Given the description of an element on the screen output the (x, y) to click on. 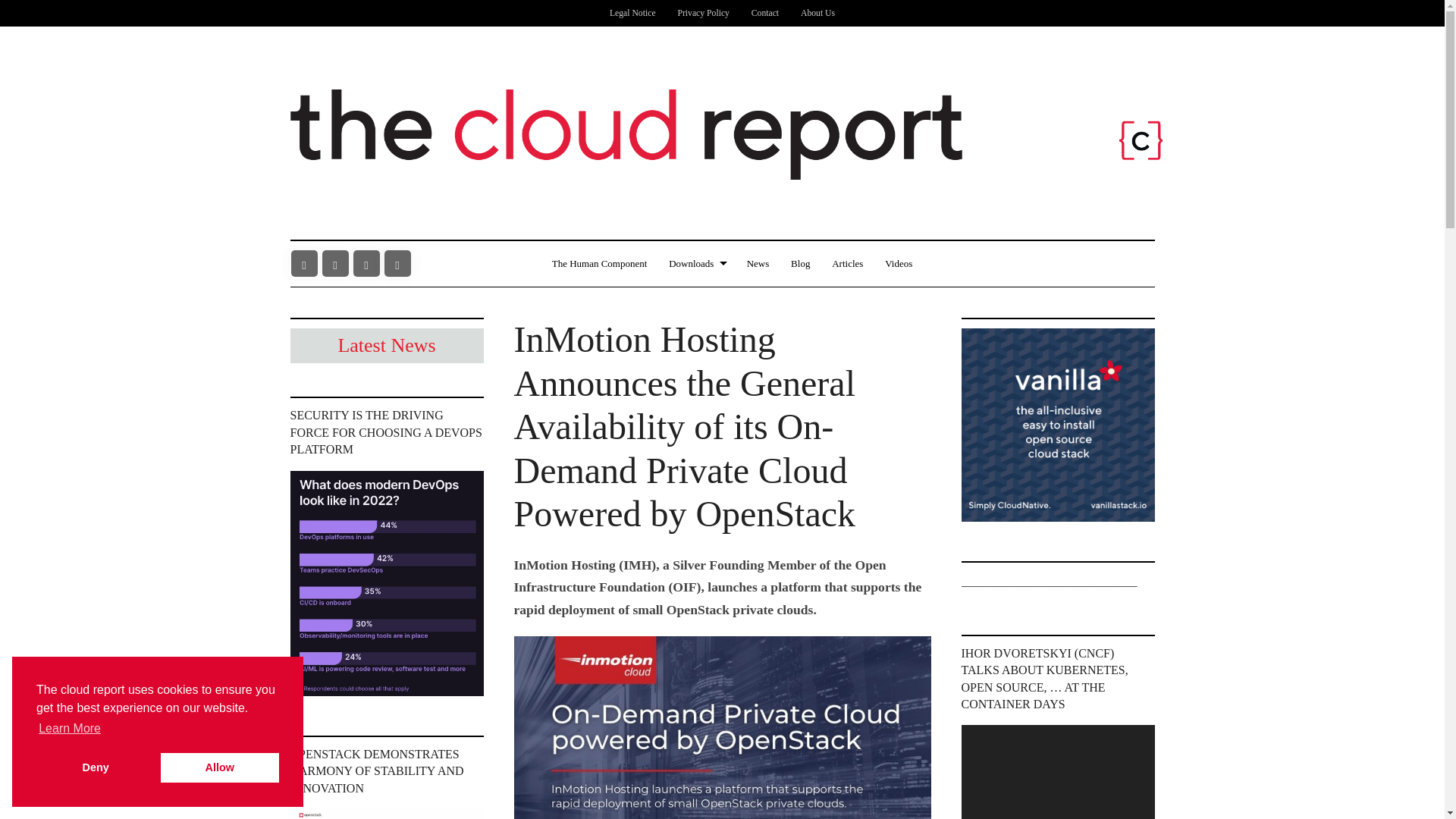
Legal Notice (632, 13)
Downloads (696, 263)
linkedin (397, 263)
Videos (898, 263)
Articles (847, 263)
Instagram (366, 263)
Contact (765, 13)
The Human Component (598, 263)
Twitter (334, 263)
News (757, 263)
About Us (817, 13)
Privacy Policy (703, 13)
Latest News (386, 345)
Facebook (304, 263)
